Given the description of an element on the screen output the (x, y) to click on. 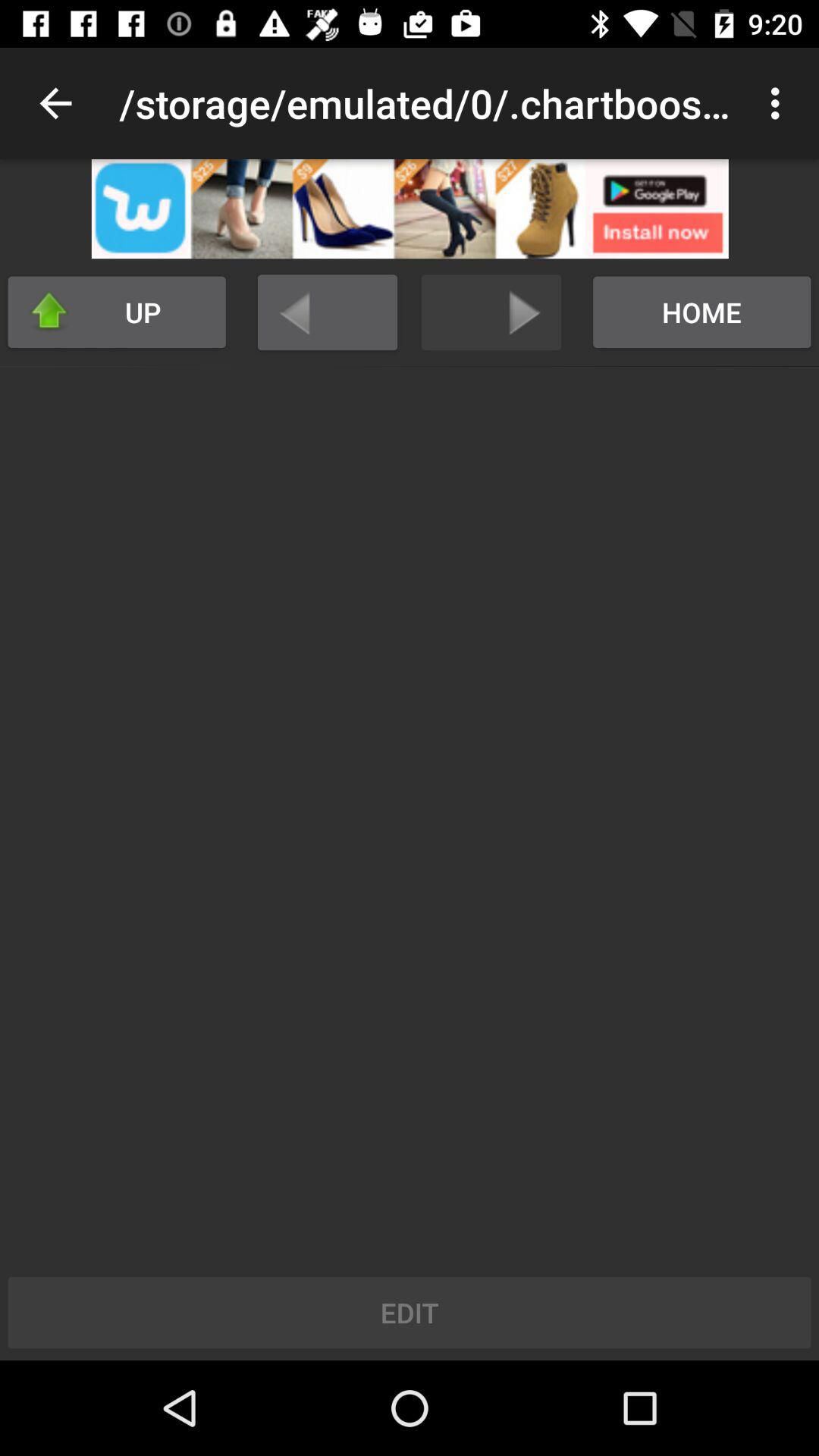
go to next (491, 312)
